Given the description of an element on the screen output the (x, y) to click on. 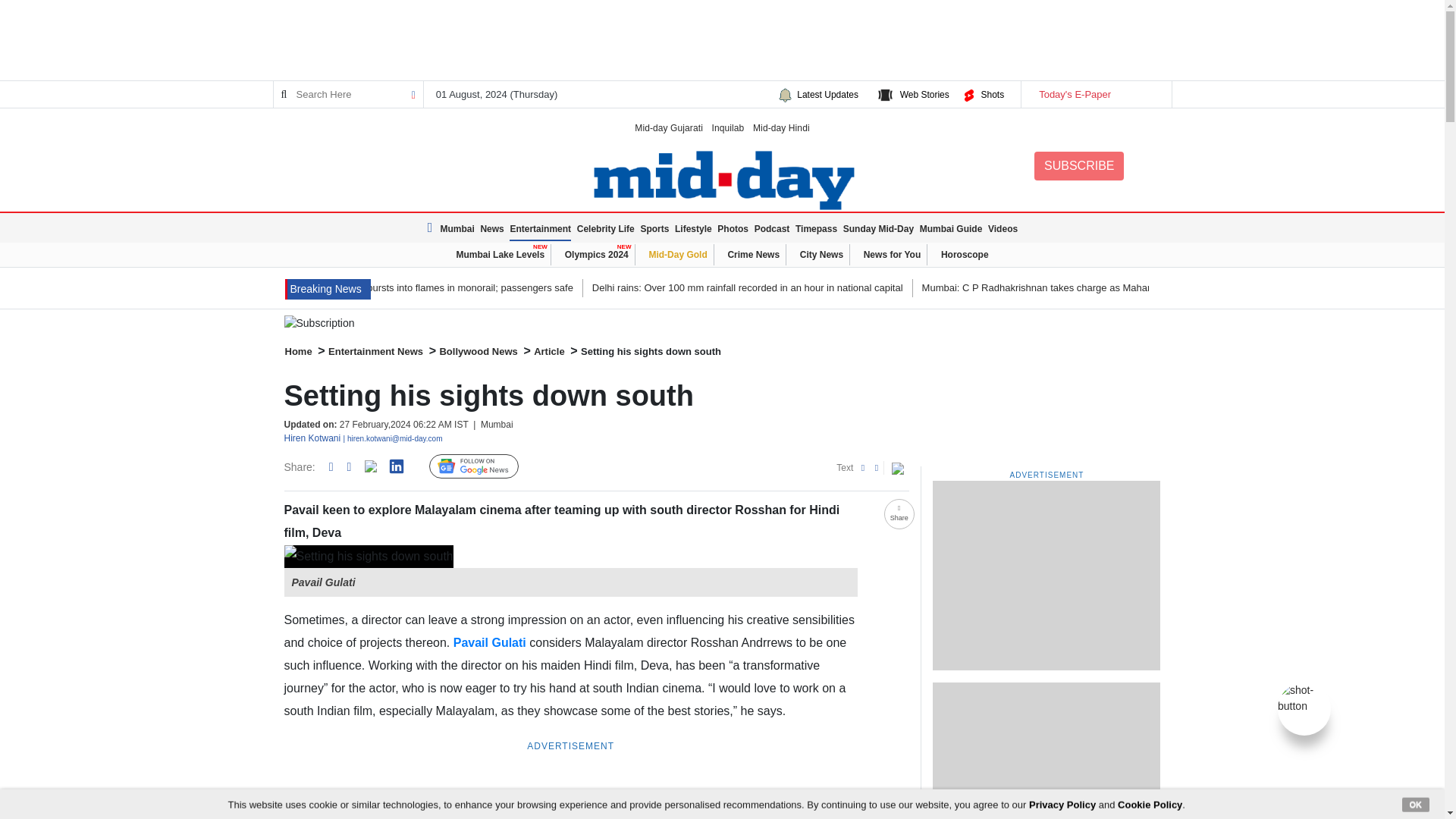
SUBSCRIBE (1078, 165)
Mid-day Hindi (780, 127)
Latest News (432, 227)
Inquilab (728, 127)
Latest Updates (827, 94)
Setting his sights down south (367, 556)
Midday Shot Videos (1304, 697)
Subscription (721, 323)
Quick Reads (543, 467)
Today's E-Paper (1095, 94)
Mid-day Gujarati (668, 127)
Shots (991, 94)
Latest News (328, 289)
Web Stories (924, 94)
